Given the description of an element on the screen output the (x, y) to click on. 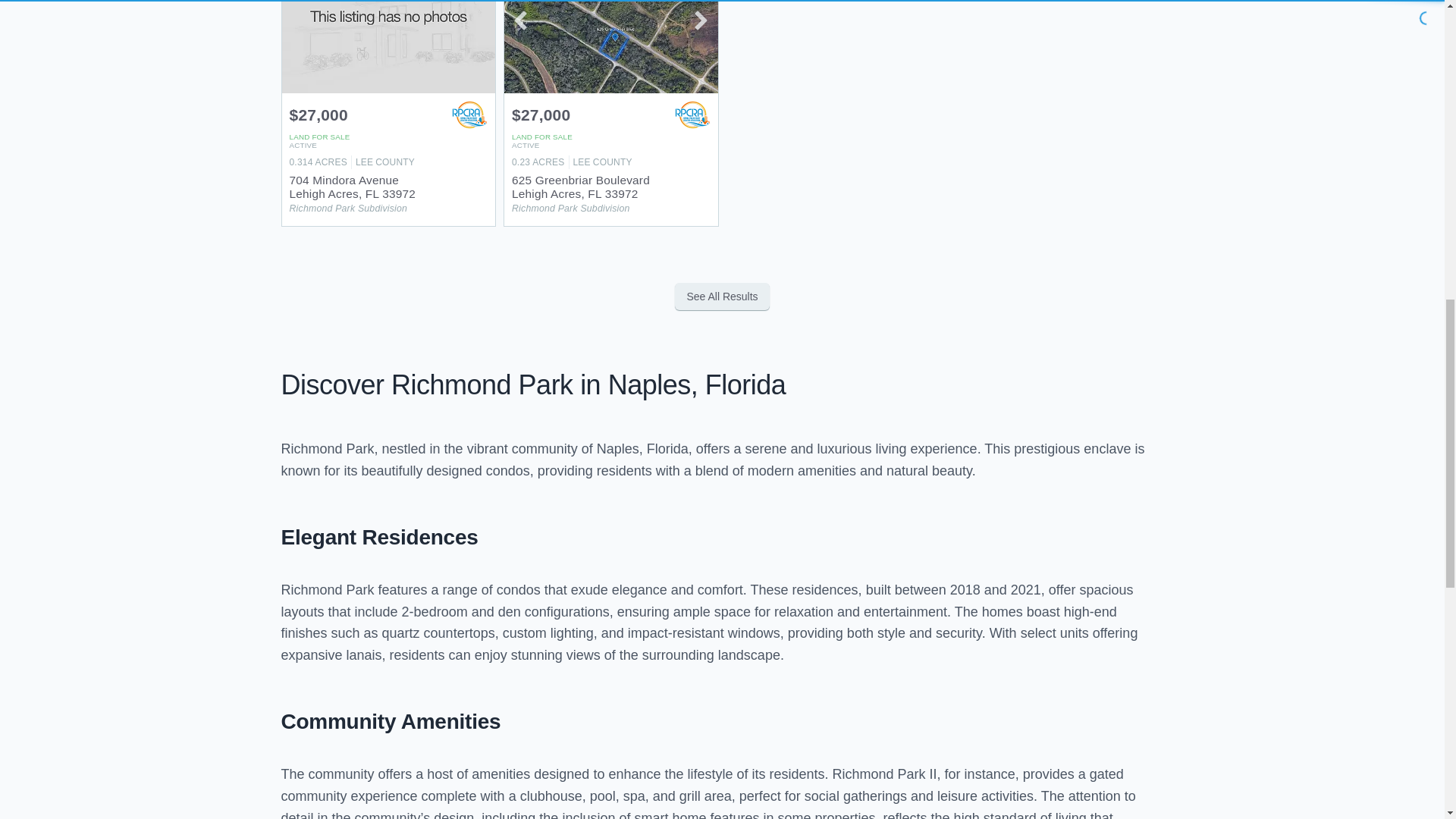
See All Results (721, 296)
625 Greenbriar Boulevard (610, 107)
704 Mindora Avenue (389, 107)
